Given the description of an element on the screen output the (x, y) to click on. 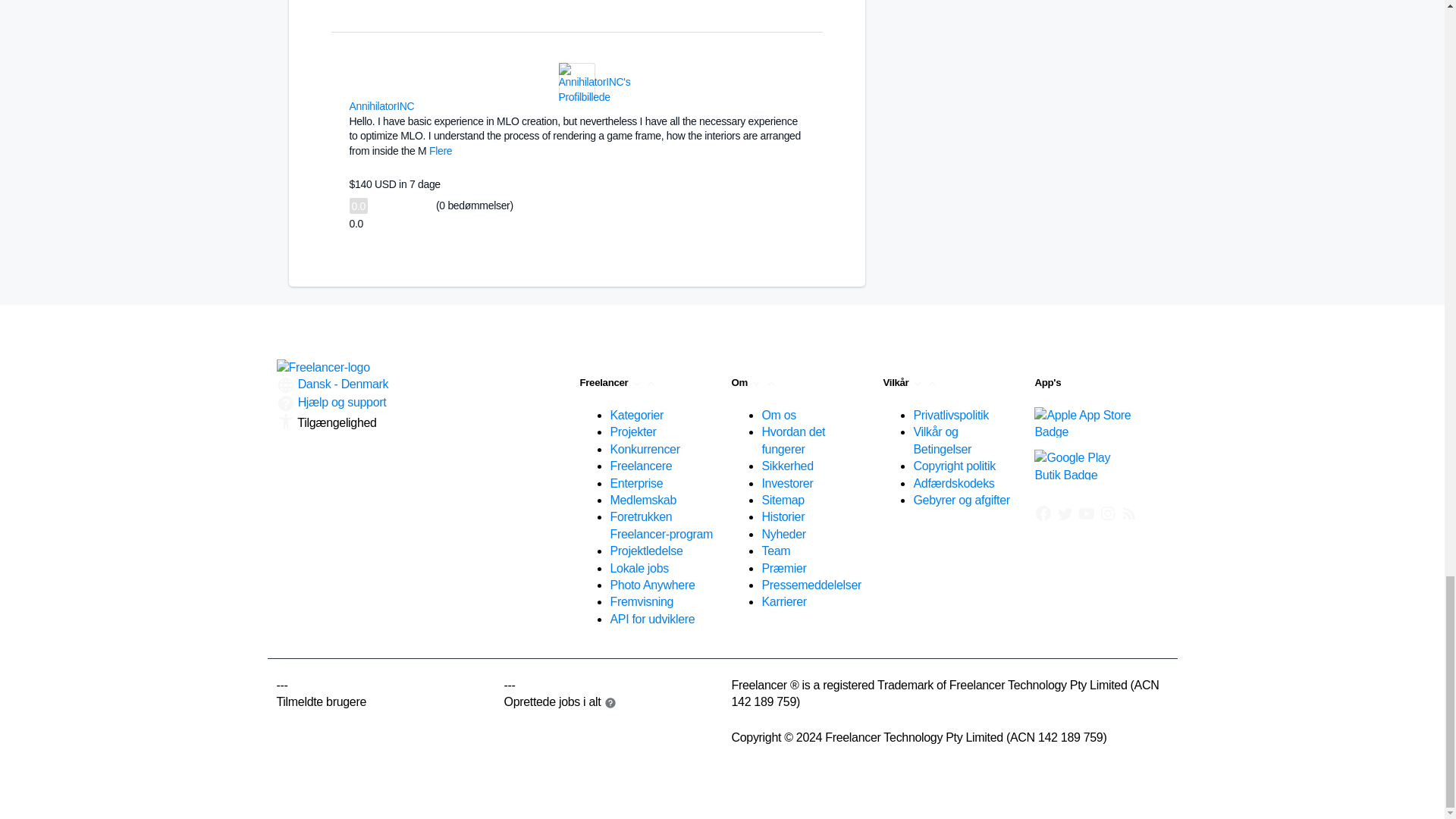
Seneste Projekter (1128, 513)
Download fra AppStore (1085, 422)
Flere (440, 150)
Se AnnihilatorINC's Profil (593, 96)
Poland (423, 104)
AnnihilatorINC (381, 105)
